Given the description of an element on the screen output the (x, y) to click on. 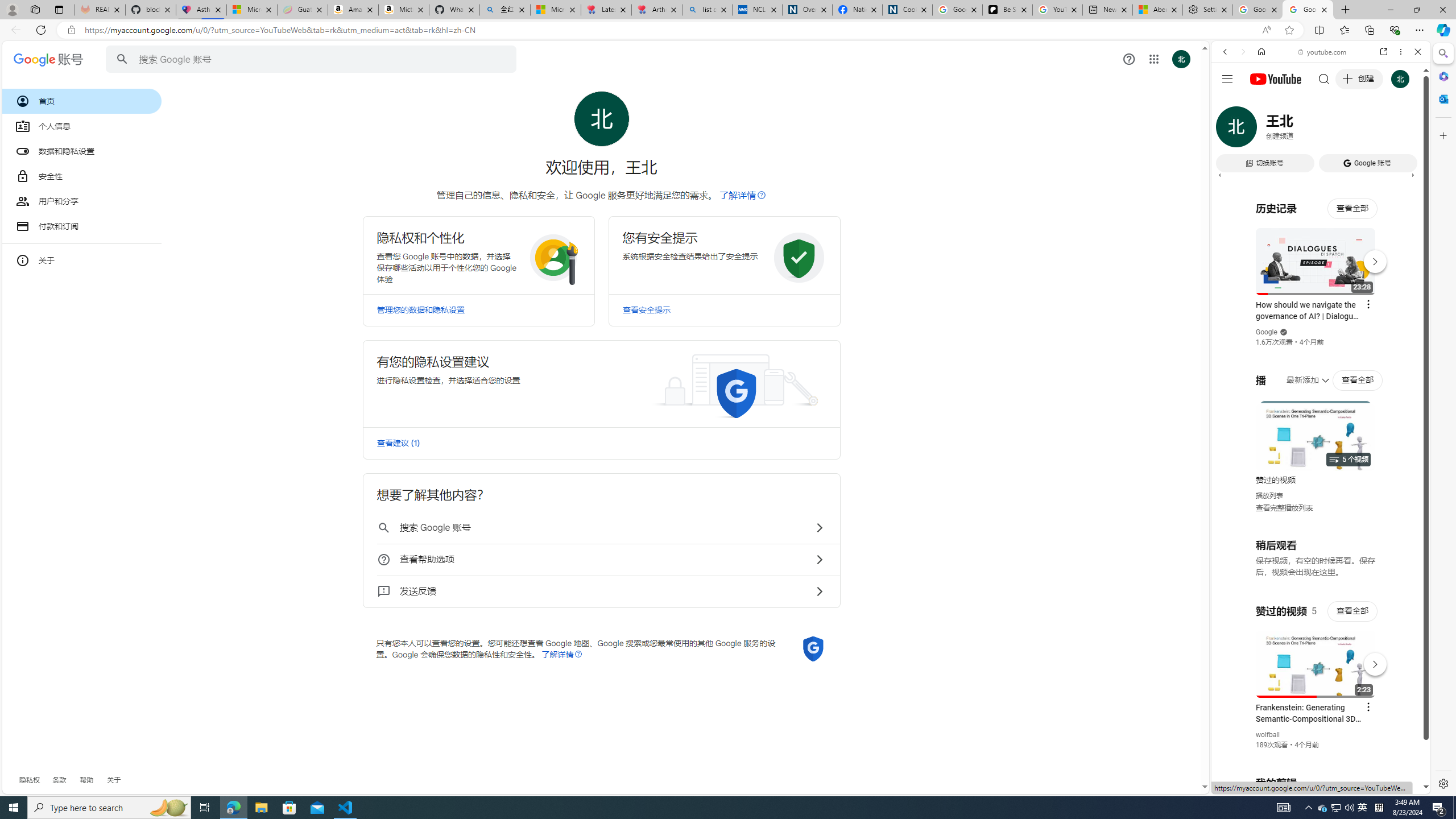
Be Smart | creating Science videos | Patreon (1006, 9)
